Given the description of an element on the screen output the (x, y) to click on. 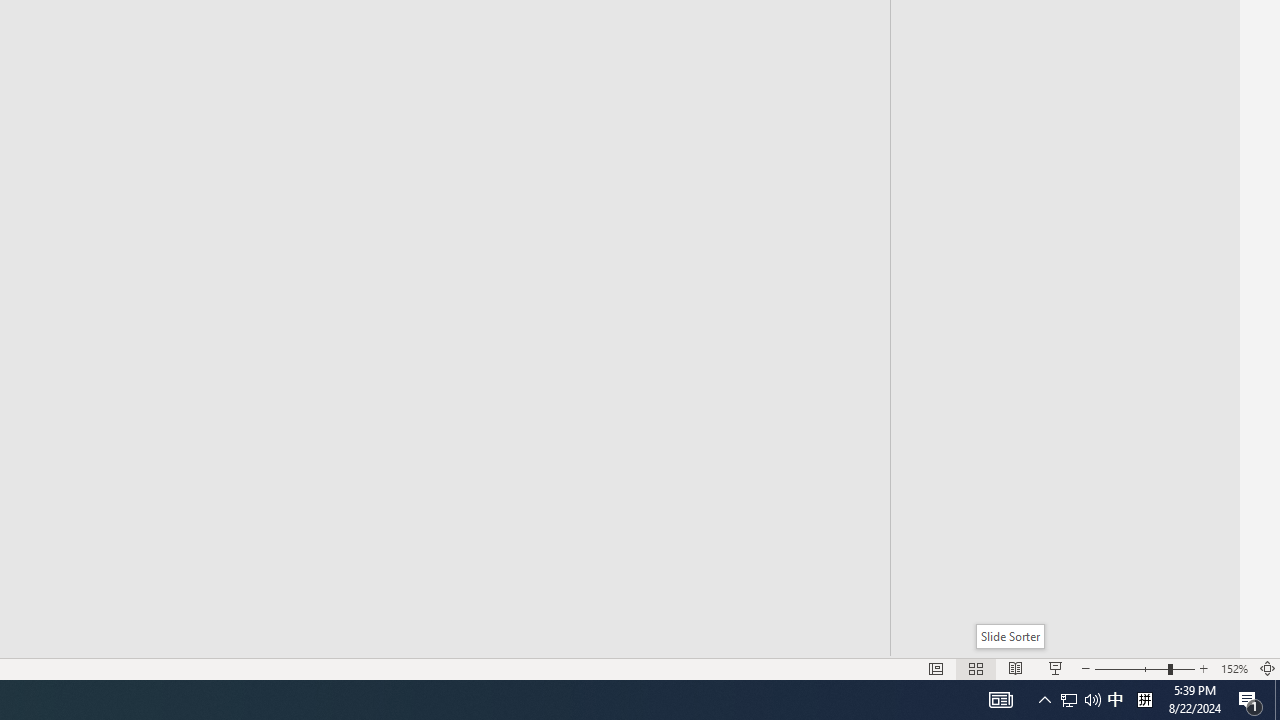
Zoom 152% (1234, 668)
